Given the description of an element on the screen output the (x, y) to click on. 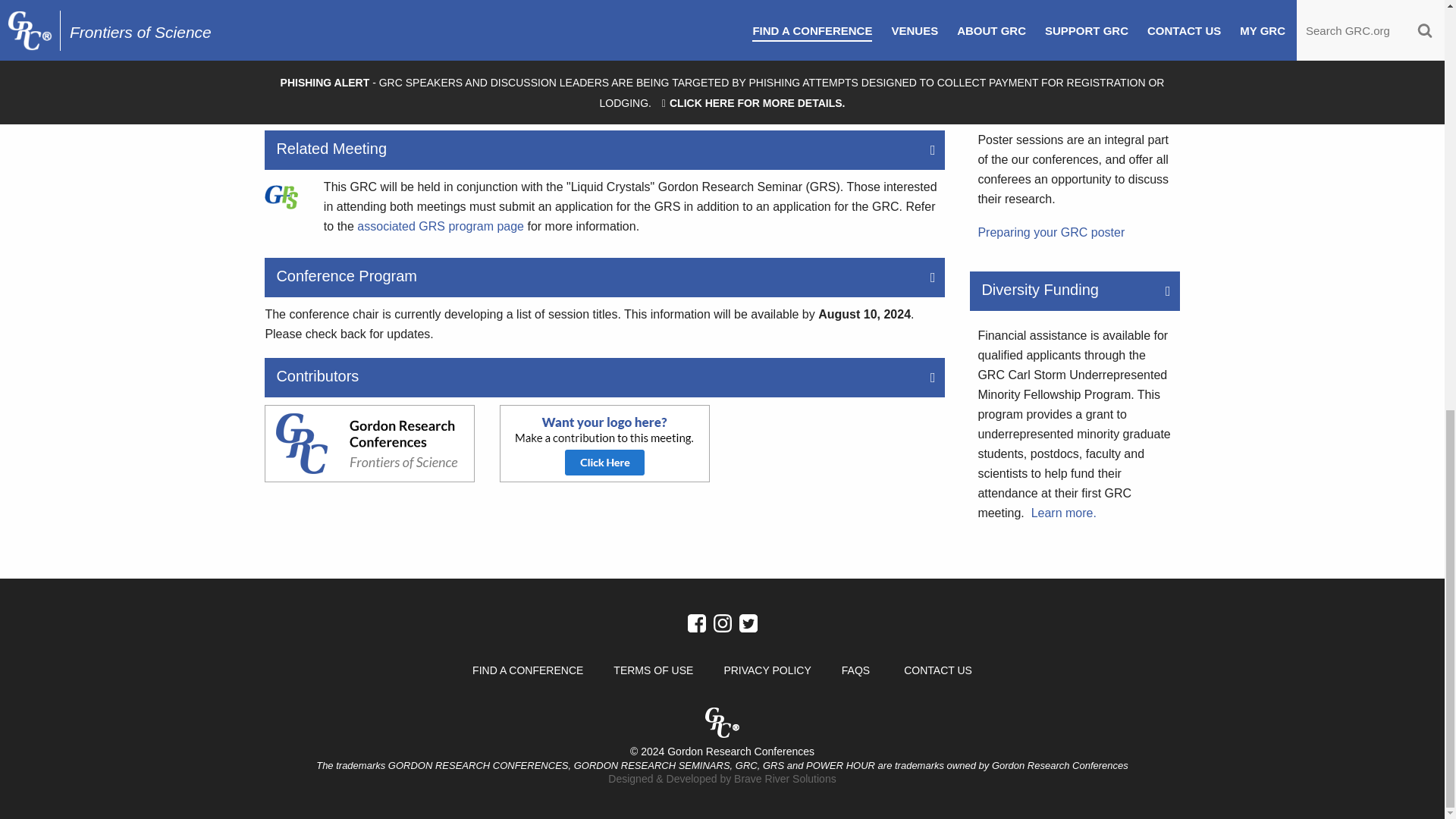
Gordon Research Conferences (368, 443)
More Information (1050, 232)
